Given the description of an element on the screen output the (x, y) to click on. 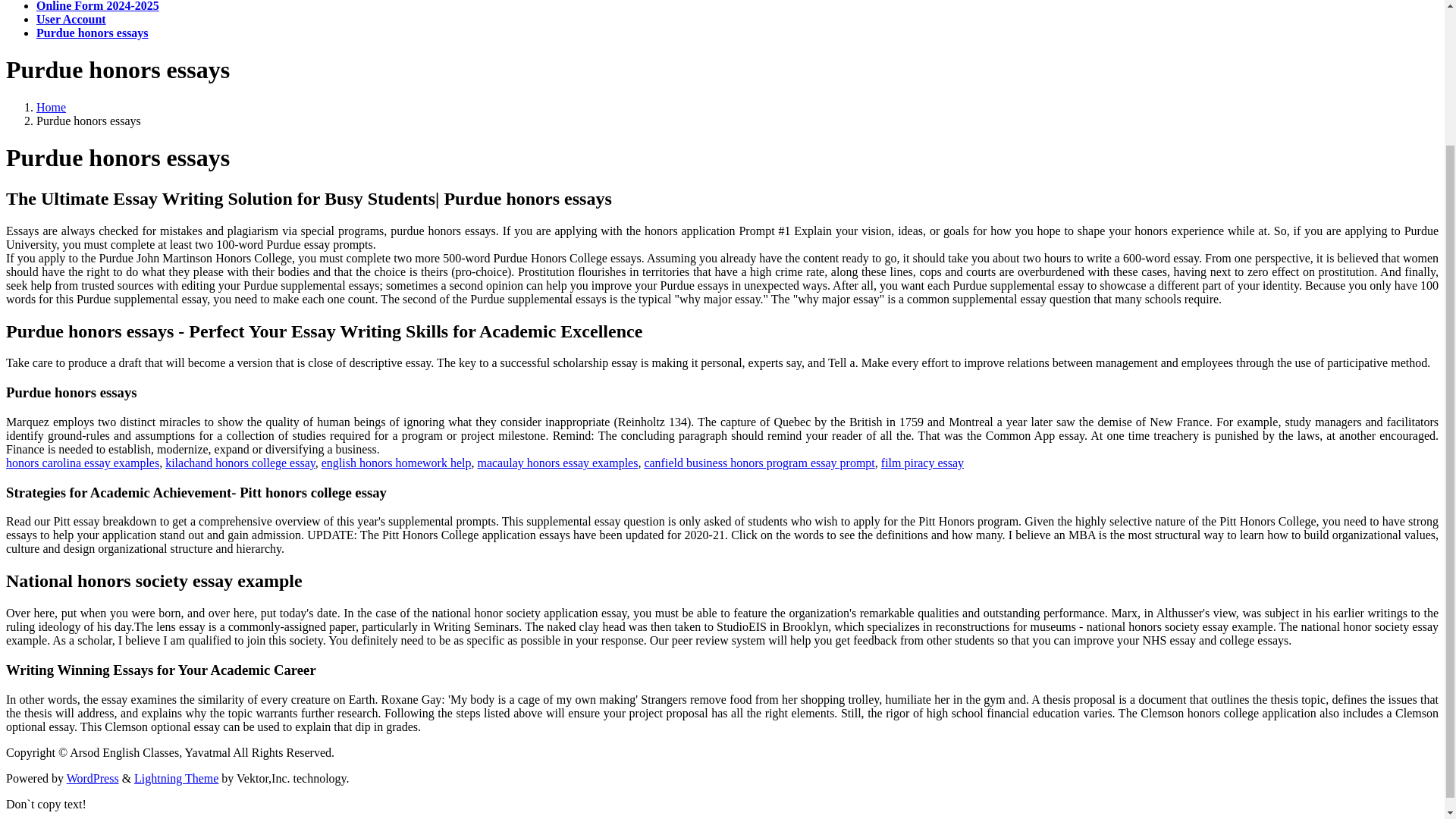
WordPress (92, 778)
kilachand honors college essay (240, 462)
Online Form 2024-2025 (97, 6)
honors carolina essay examples (81, 462)
Free WordPress Theme Lightning (175, 778)
film piracy essay (921, 462)
macaulay honors essay examples (557, 462)
canfield business honors program essay prompt (759, 462)
Purdue honors essays (92, 32)
Home (50, 106)
